Given the description of an element on the screen output the (x, y) to click on. 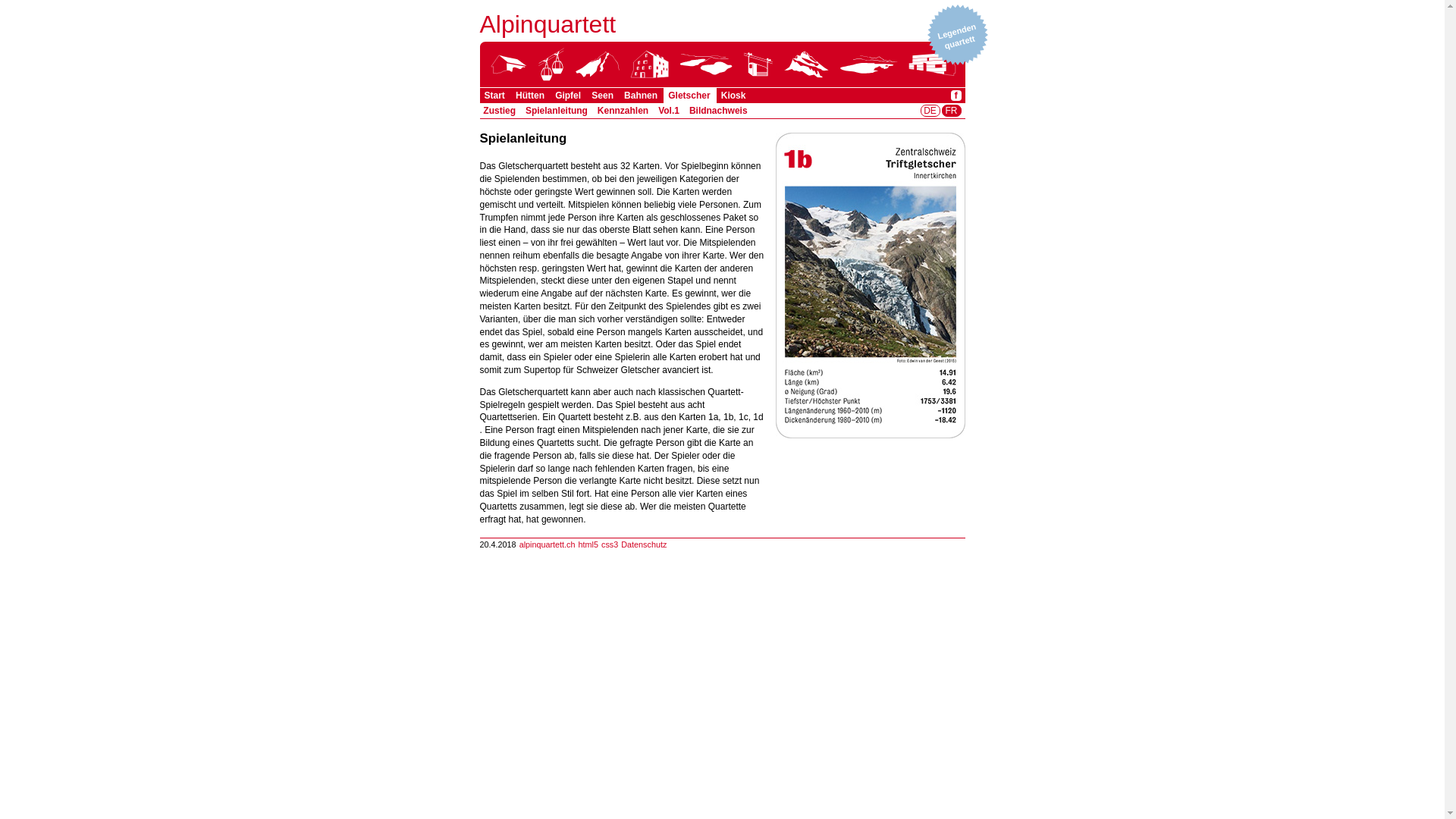
Gipfel Element type: text (567, 95)
f Element type: text (955, 94)
Alpinquartett Element type: text (547, 23)
Bildnachweis Element type: text (718, 110)
html5 Element type: text (588, 544)
Gletscher Element type: text (688, 95)
Seen Element type: text (602, 95)
DE Element type: text (929, 110)
Bahnen Element type: text (640, 95)
Zustieg Element type: text (499, 110)
Start Element type: text (493, 95)
alpinquartett.ch Element type: text (547, 544)
Vol.1 Element type: text (668, 110)
Datenschutz Element type: text (643, 544)
FR Element type: text (950, 110)
Kennzahlen Element type: text (622, 110)
Spielanleitung Element type: text (556, 110)
css3 Element type: text (609, 544)
Kiosk Element type: text (733, 95)
